Given the description of an element on the screen output the (x, y) to click on. 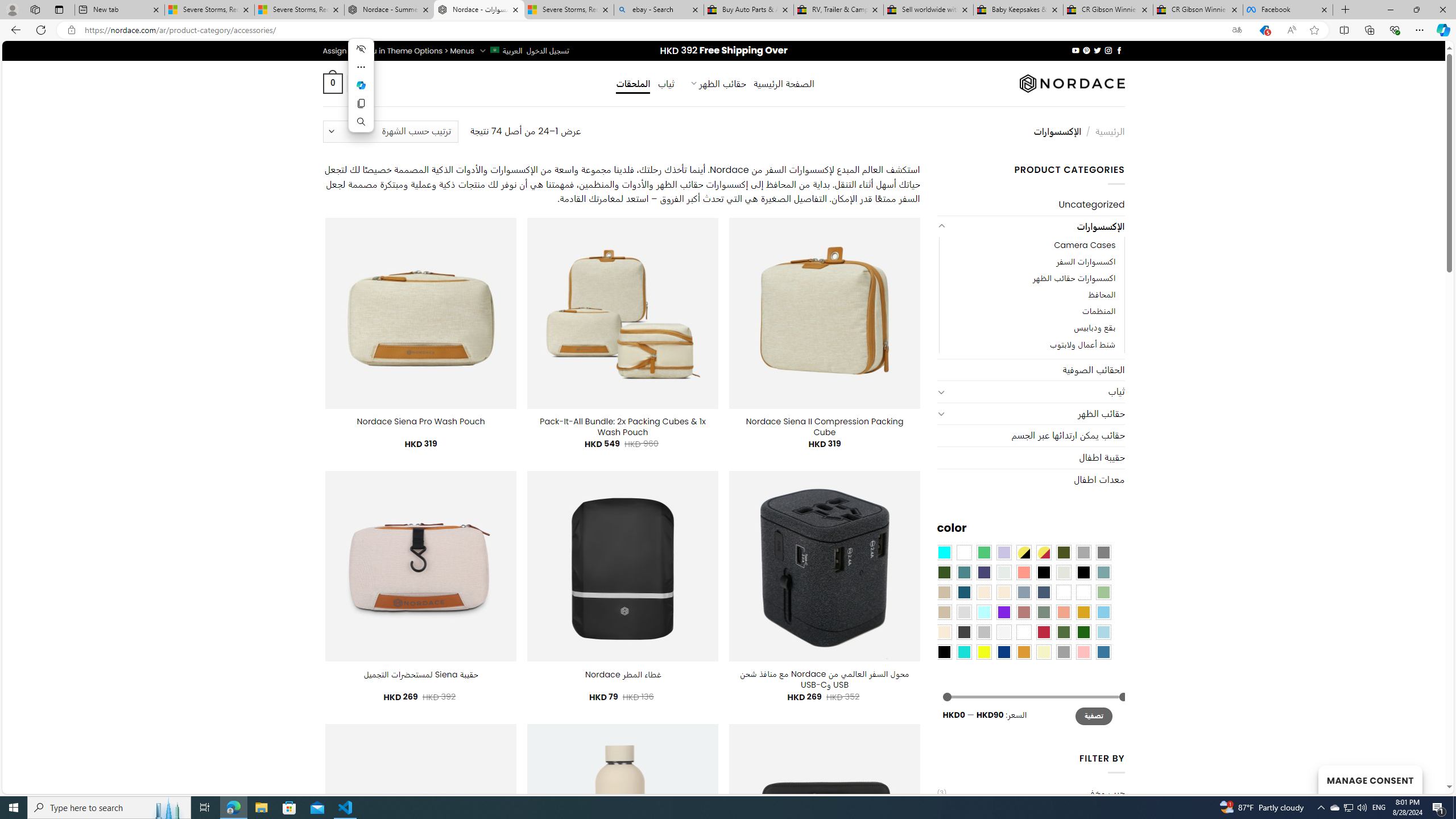
 0  (332, 83)
MANAGE CONSENT (1369, 779)
Uncategorized (1030, 204)
Assign a menu in Theme Options > Menus (397, 50)
Clear (963, 551)
Search (360, 122)
Ash Gray (1063, 572)
Address and search bar (653, 29)
